Given the description of an element on the screen output the (x, y) to click on. 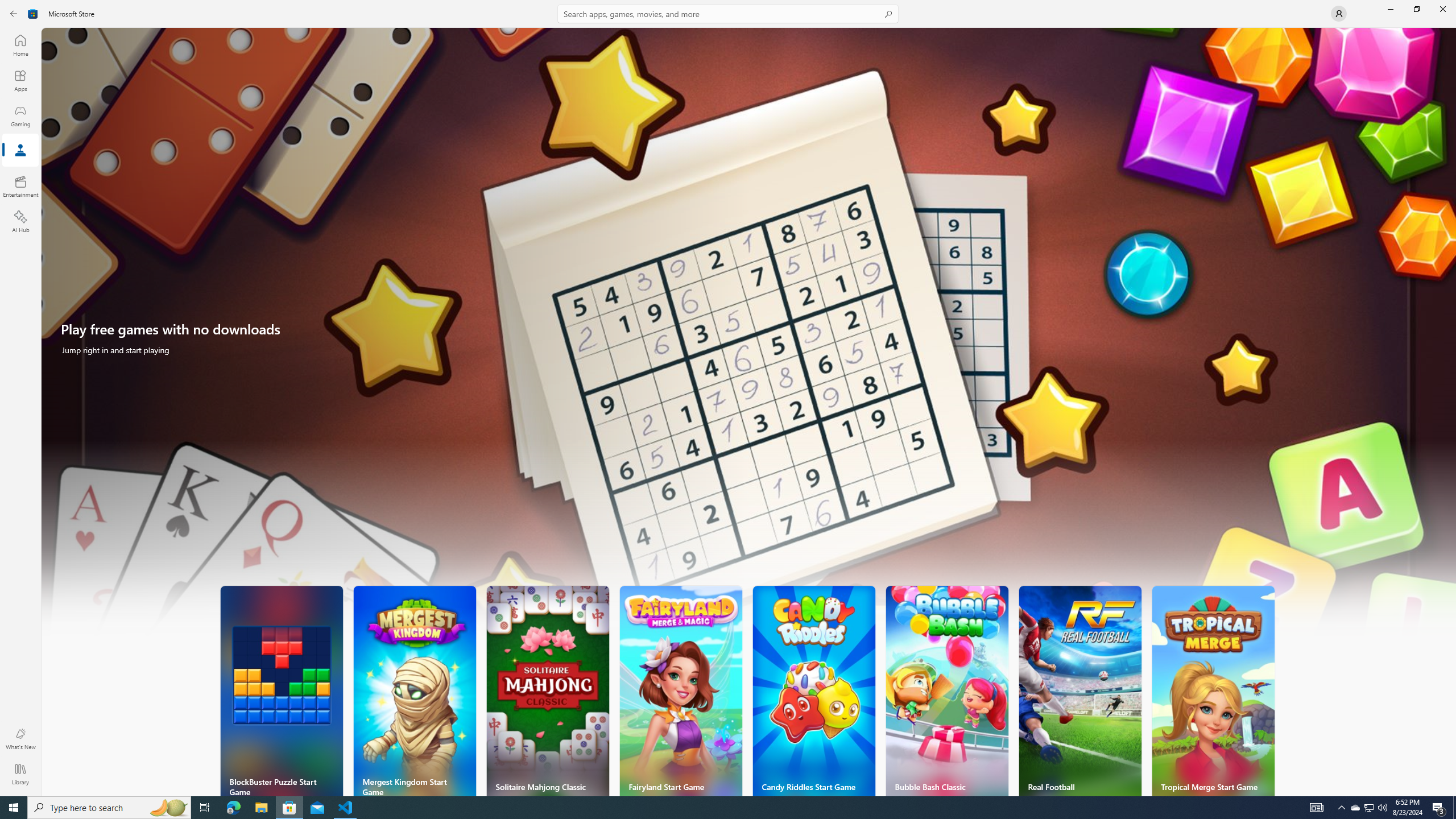
AutomationID: HeroOverlayImage (749, 337)
Search (727, 13)
AutomationID: HeroImage (749, 337)
Back (13, 13)
